Given the description of an element on the screen output the (x, y) to click on. 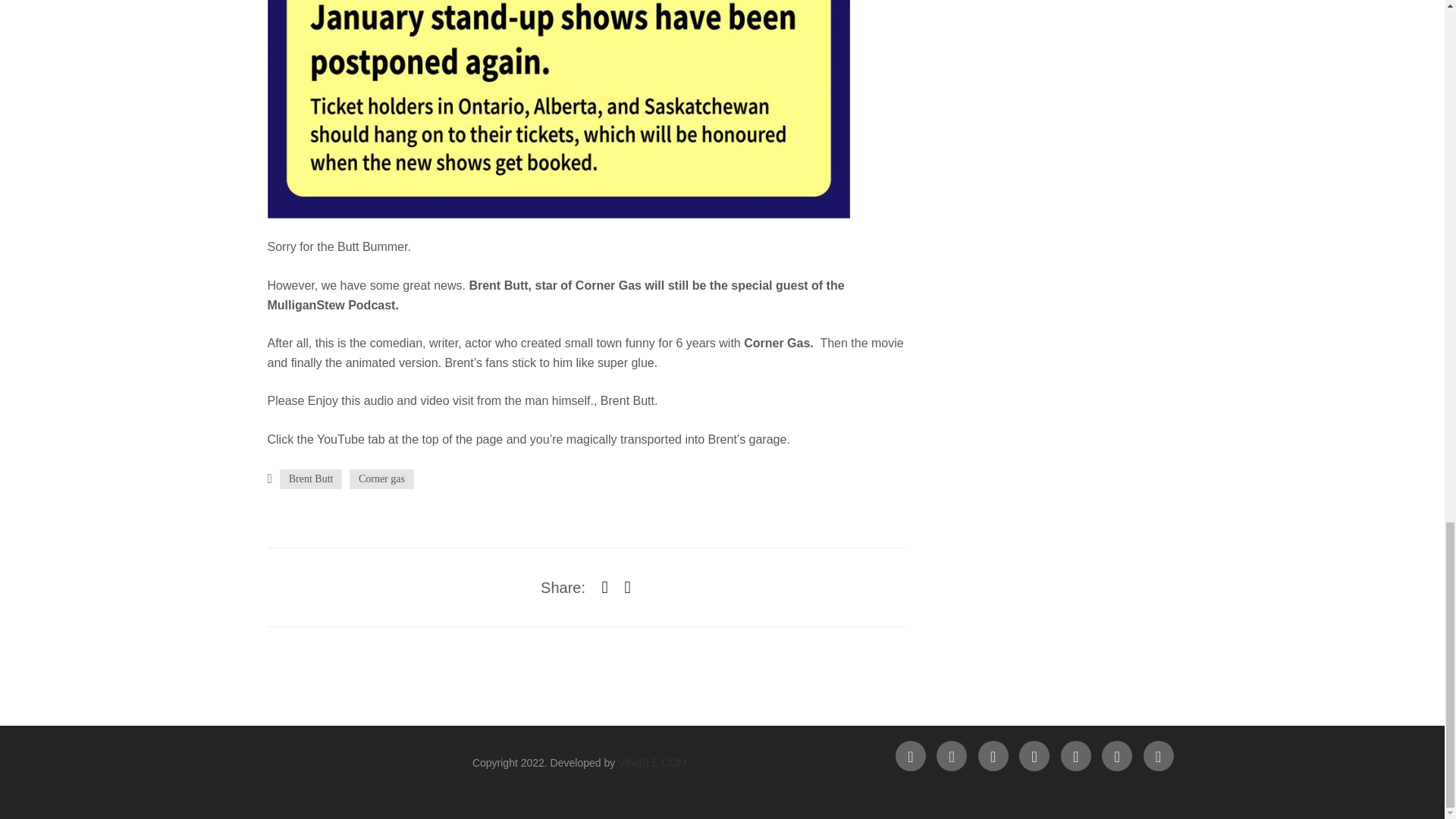
Twitter (951, 756)
Podcast (1117, 756)
Spotify (1034, 756)
Corner gas (381, 478)
Brent Butt (310, 478)
Instagram (993, 756)
Email (1157, 756)
Youtube (1075, 756)
Facebook (910, 756)
